Given the description of an element on the screen output the (x, y) to click on. 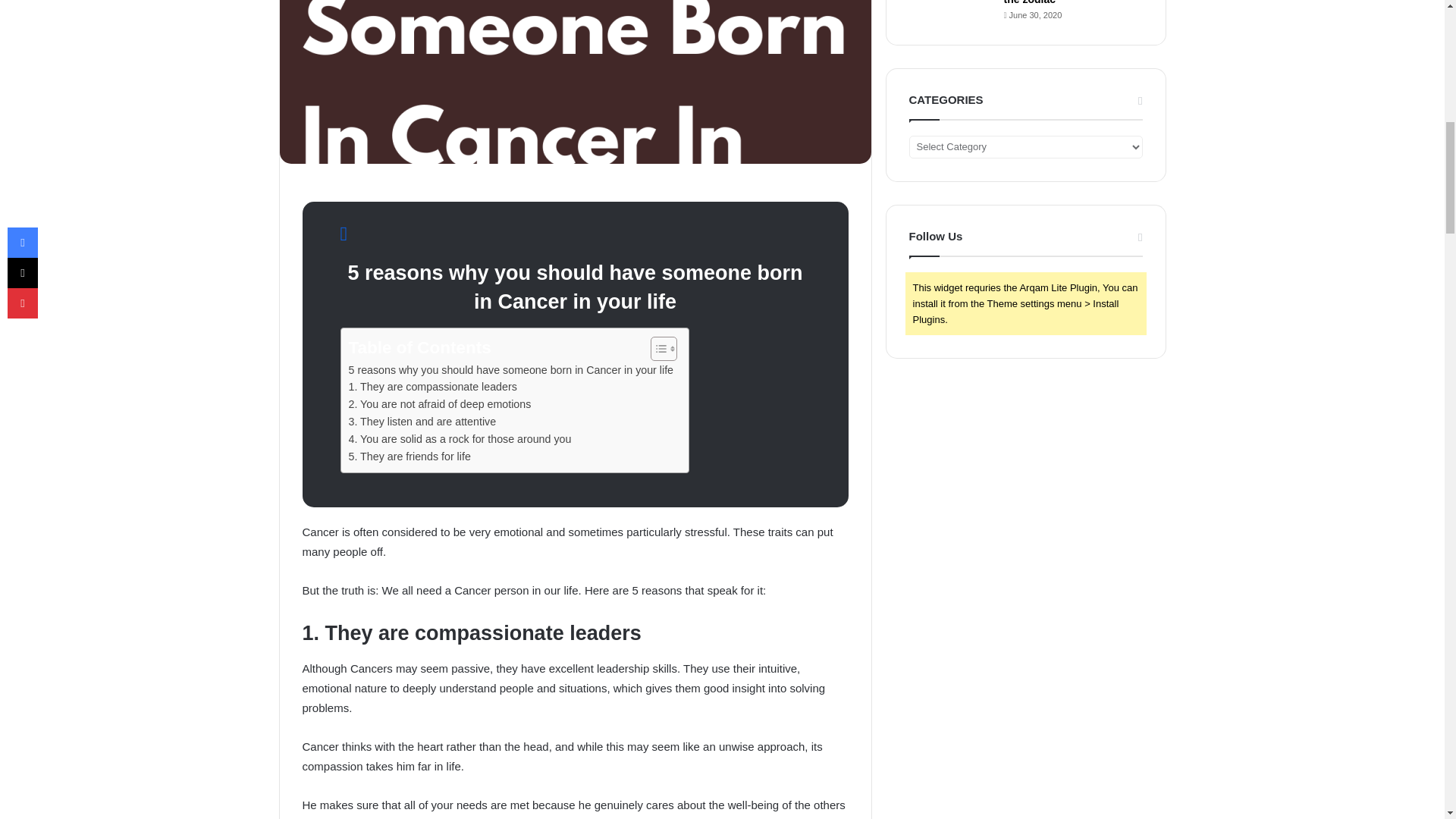
1. They are compassionate leaders (432, 386)
4. You are solid as a rock for those around you (460, 438)
2. You are not afraid of deep emotions (440, 404)
5. They are friends for life (409, 456)
3. They listen and are attentive (422, 421)
